Given the description of an element on the screen output the (x, y) to click on. 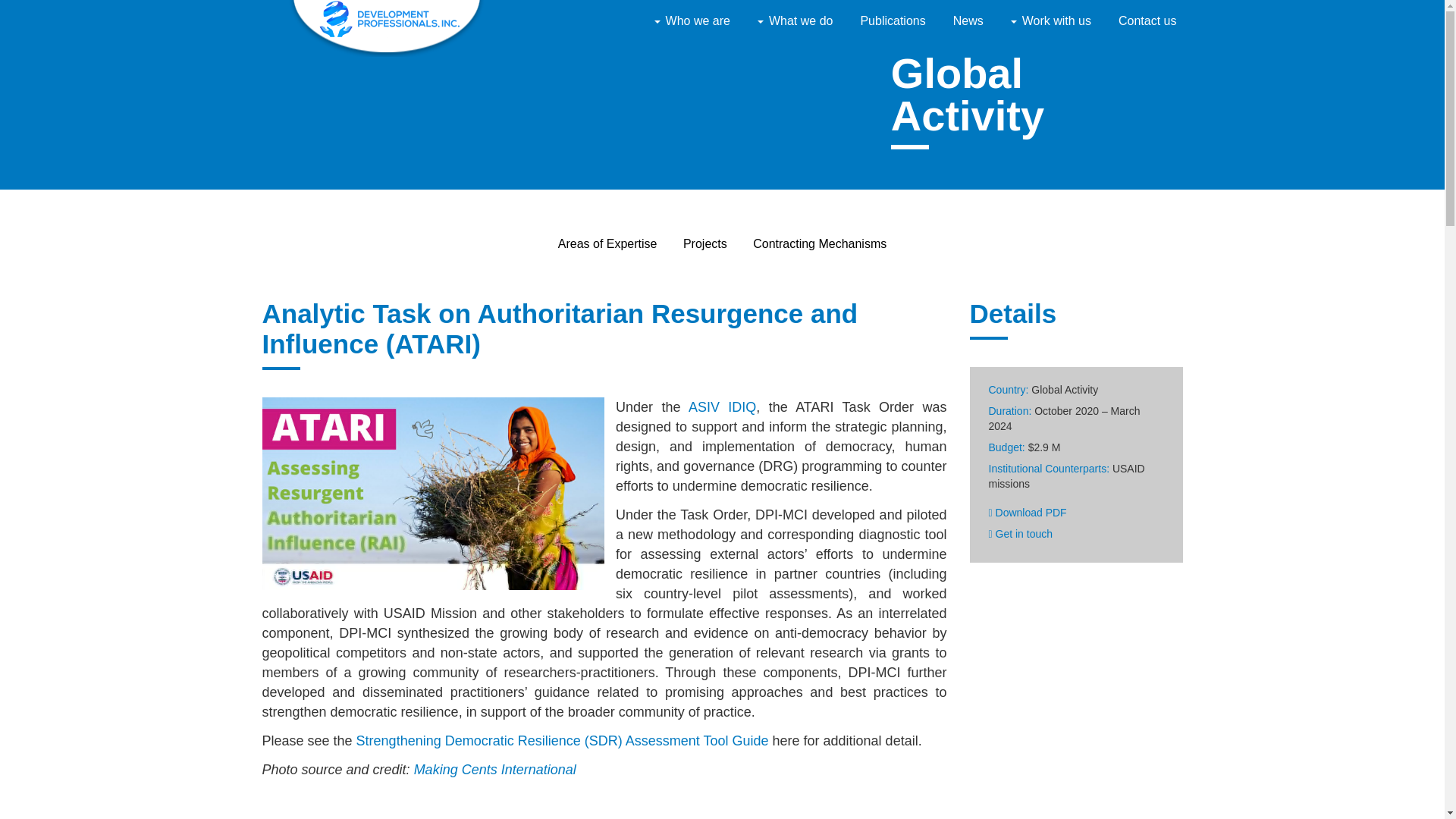
News (968, 20)
Download PDF (1027, 512)
Work with us (1050, 20)
ASIV IDIQ (721, 406)
Areas of Expertise (607, 243)
Contact us (1147, 20)
Publications (892, 20)
What we do (794, 20)
Get in touch (1020, 533)
Contracting Mechanisms (819, 243)
Who we are (691, 20)
Making Cents International (494, 769)
Projects (704, 243)
